Given the description of an element on the screen output the (x, y) to click on. 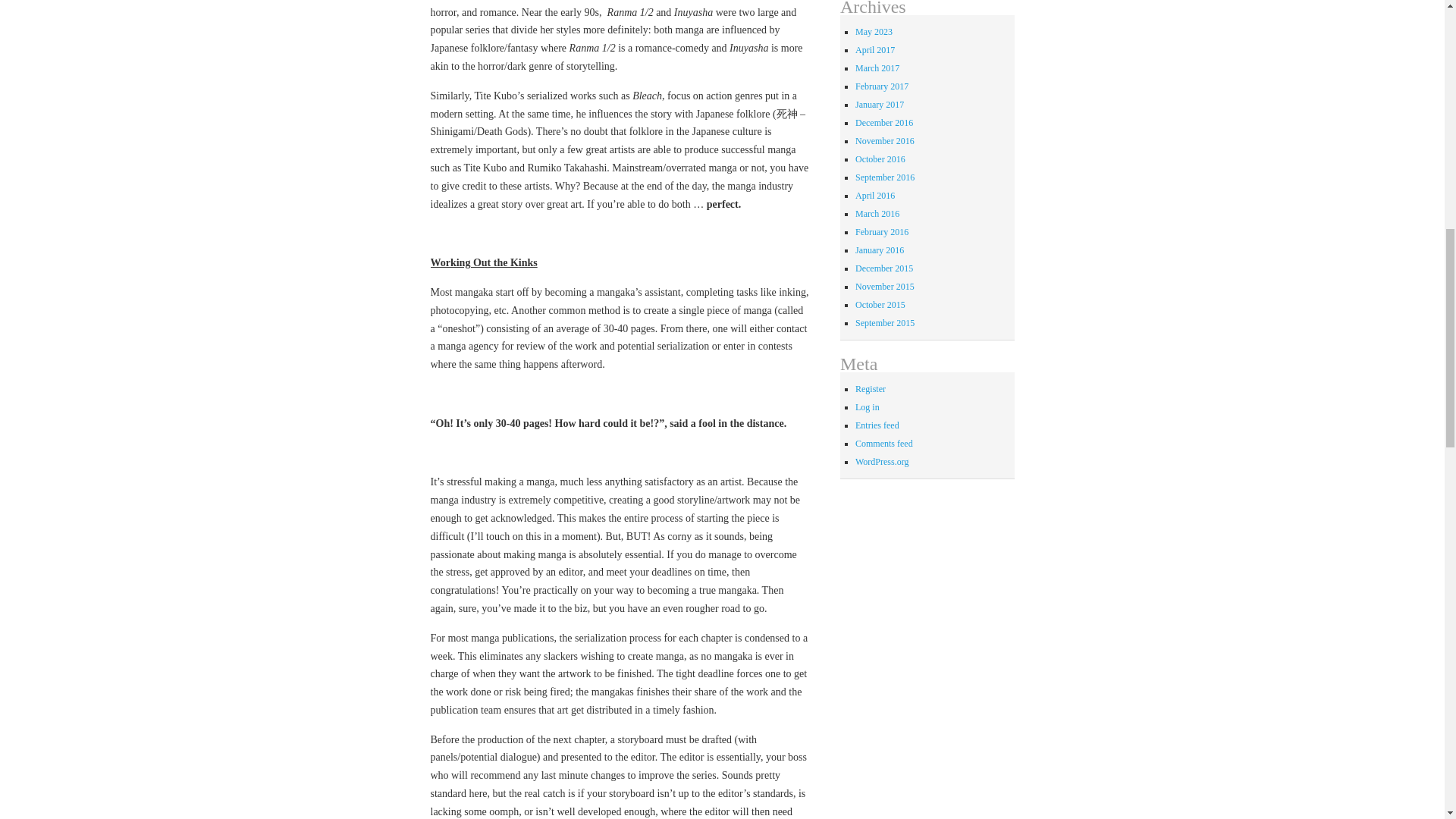
January 2017 (880, 104)
May 2023 (874, 31)
March 2017 (877, 68)
February 2017 (882, 86)
April 2017 (875, 50)
